Given the description of an element on the screen output the (x, y) to click on. 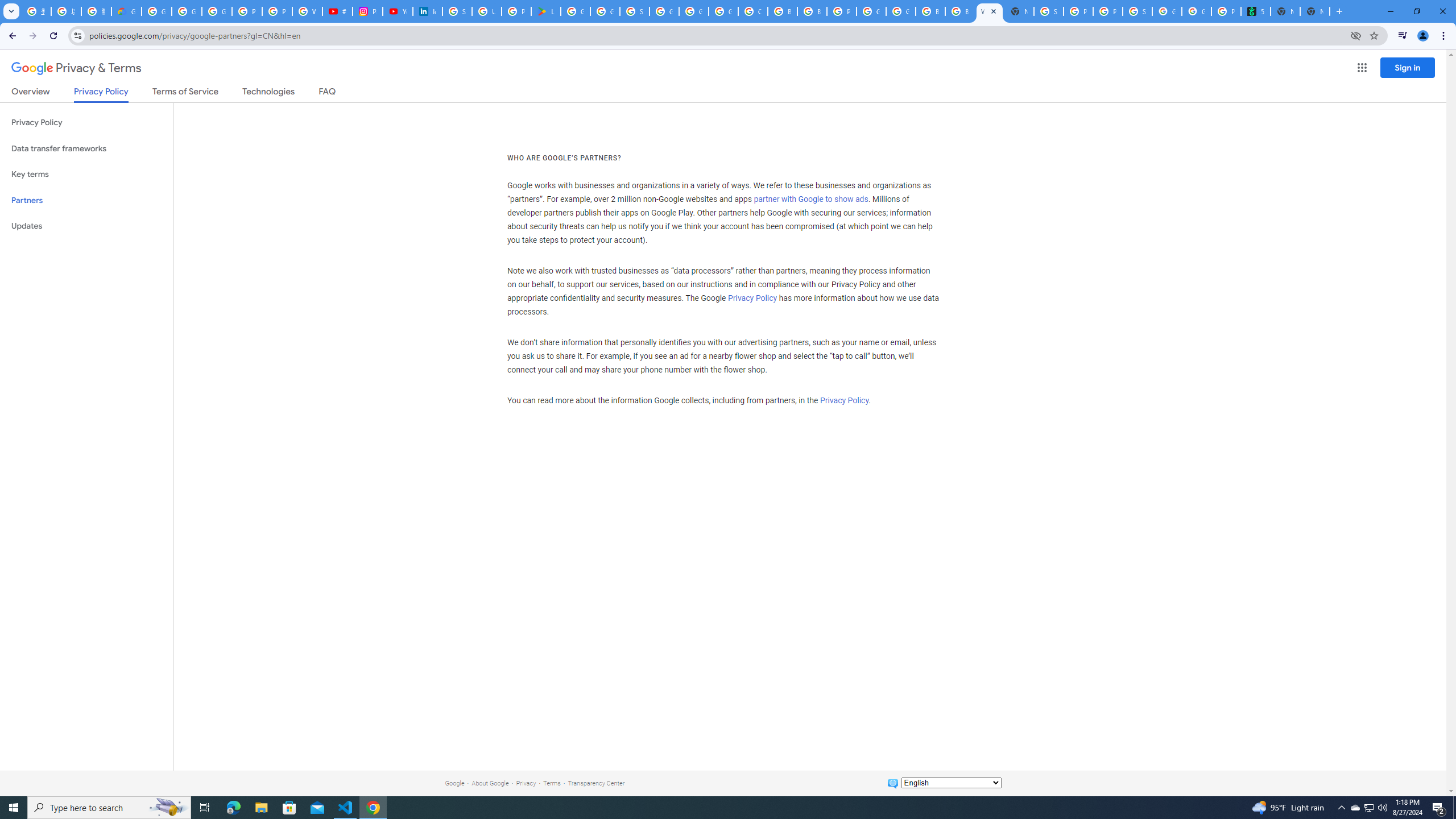
New Tab (1018, 11)
Privacy Help Center - Policies Help (247, 11)
Privacy Help Center - Policies Help (277, 11)
About Google (490, 783)
Data transfer frameworks (86, 148)
Privacy Policy (844, 400)
Browse Chrome as a guest - Computer - Google Chrome Help (782, 11)
Sign in - Google Accounts (634, 11)
